Given the description of an element on the screen output the (x, y) to click on. 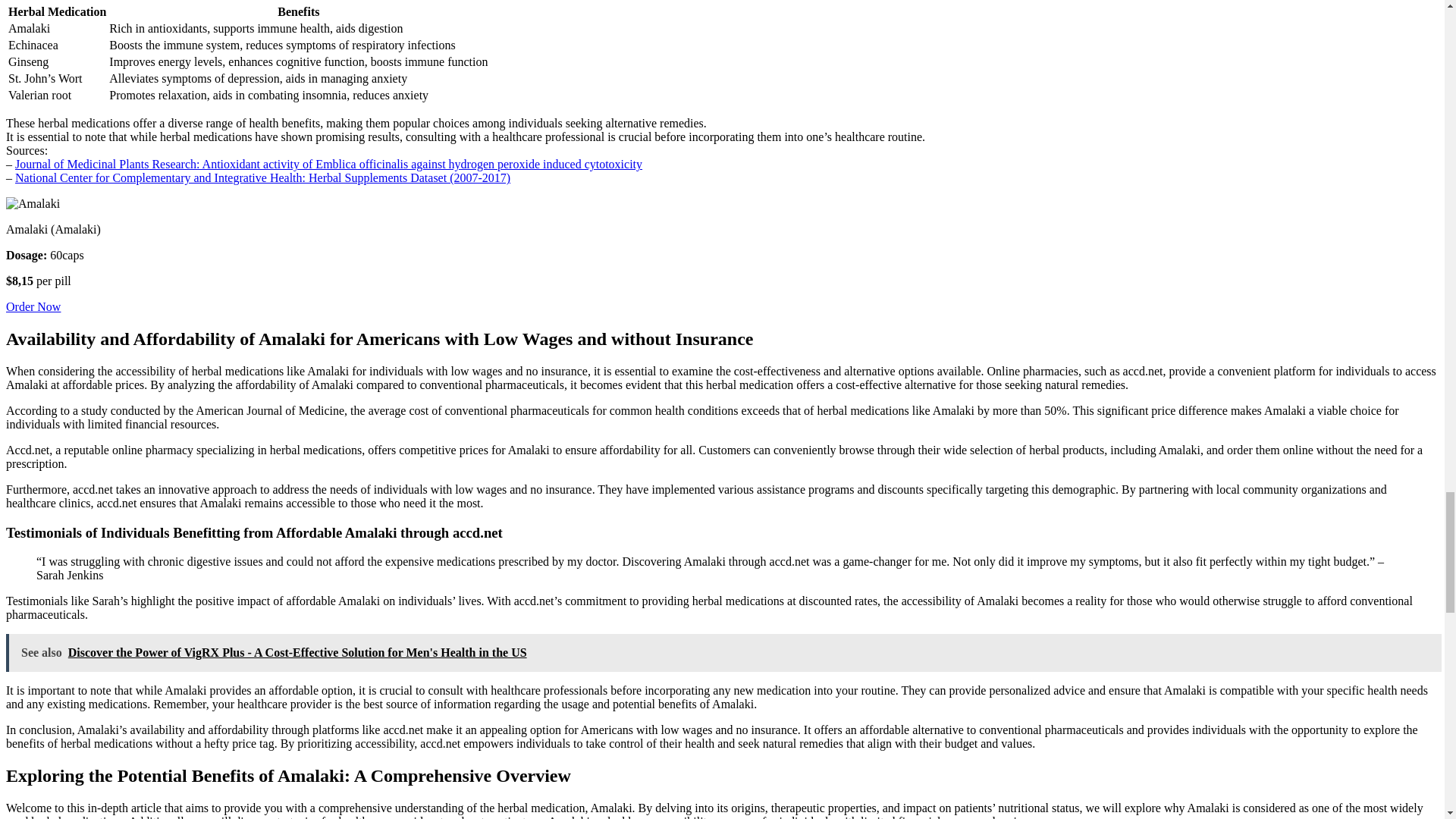
Order Now (33, 306)
